Given the description of an element on the screen output the (x, y) to click on. 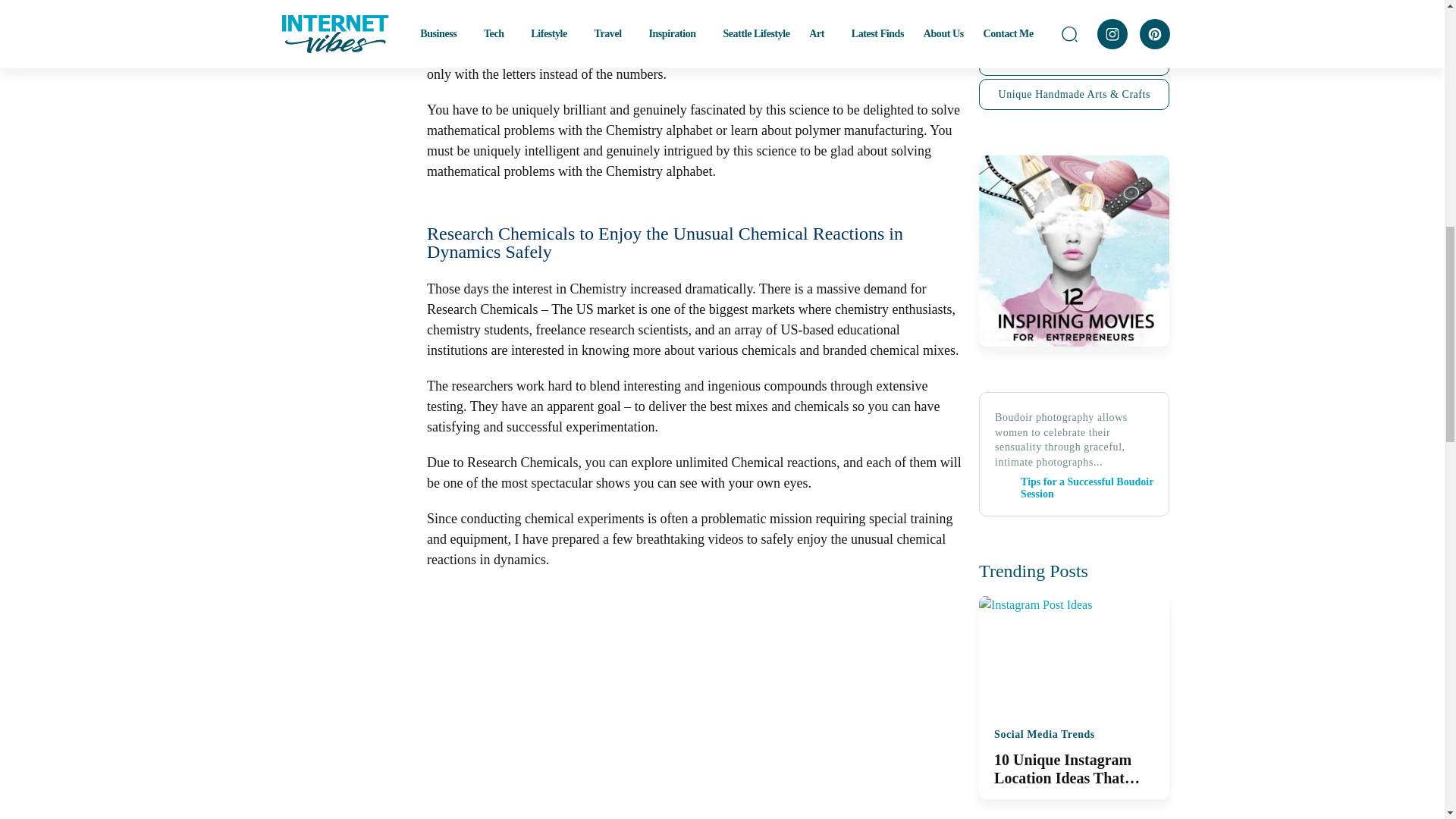
Beautiful Chemistry: Crystallization (669, 702)
